Given the description of an element on the screen output the (x, y) to click on. 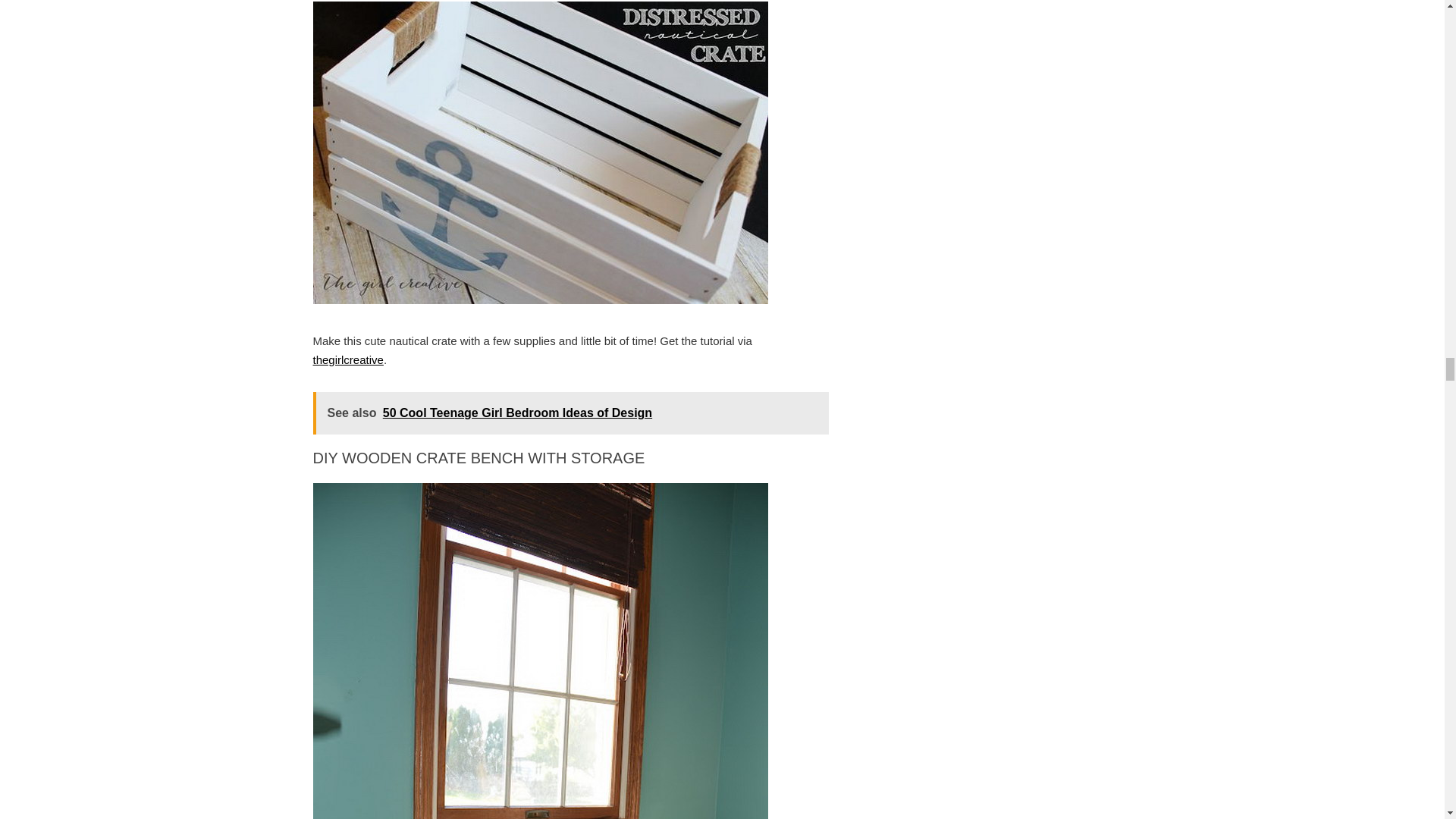
thegirlcreative (347, 359)
See also  50 Cool Teenage Girl Bedroom Ideas of Design (570, 413)
